Given the description of an element on the screen output the (x, y) to click on. 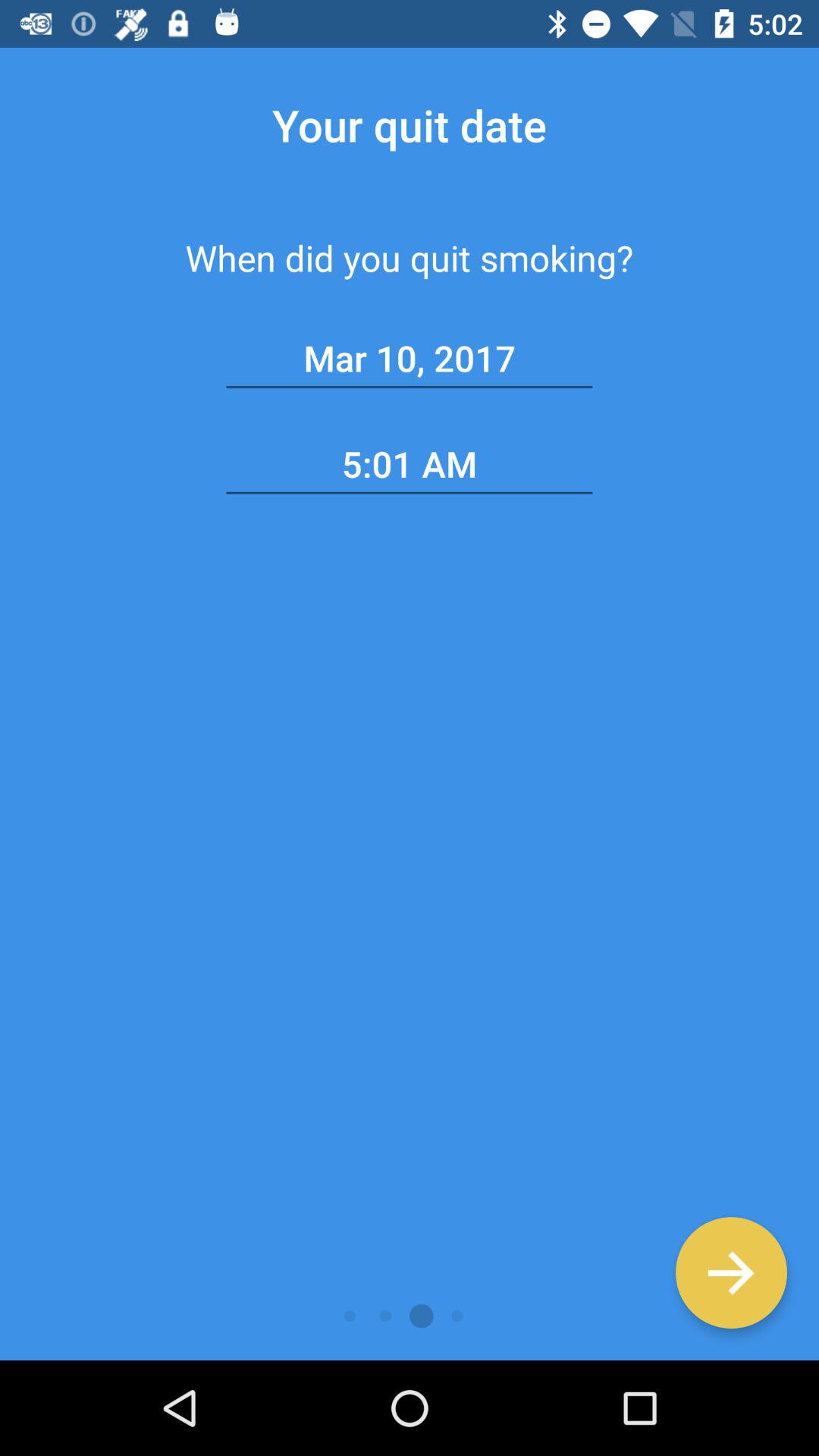
turn on item below when did you item (731, 1272)
